Given the description of an element on the screen output the (x, y) to click on. 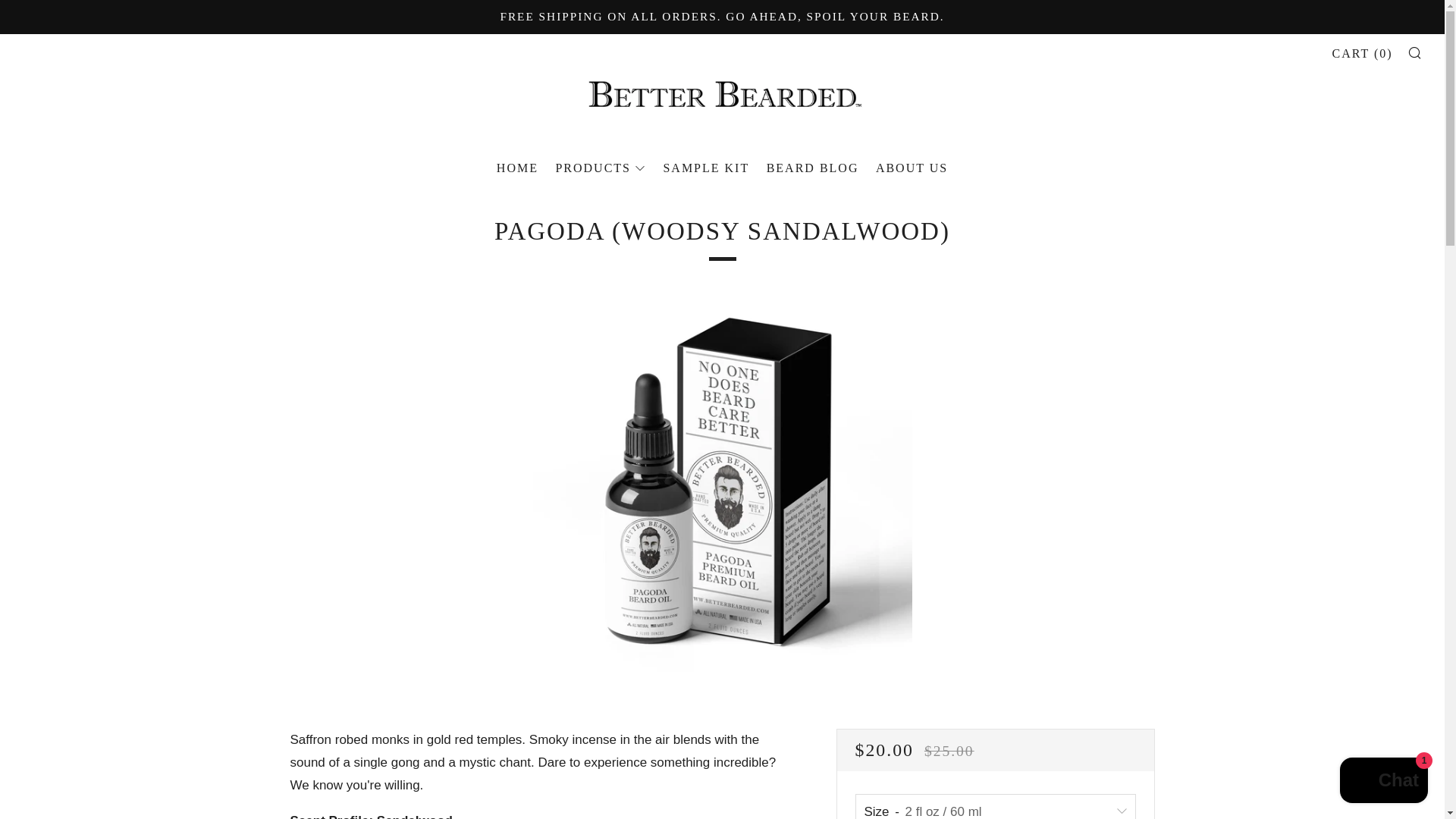
PRODUCTS (600, 167)
SAMPLE KIT (705, 167)
SEARCH (1414, 51)
HOME (517, 167)
ABOUT US (911, 167)
BEARD BLOG (813, 167)
Shopify online store chat (1383, 781)
